Given the description of an element on the screen output the (x, y) to click on. 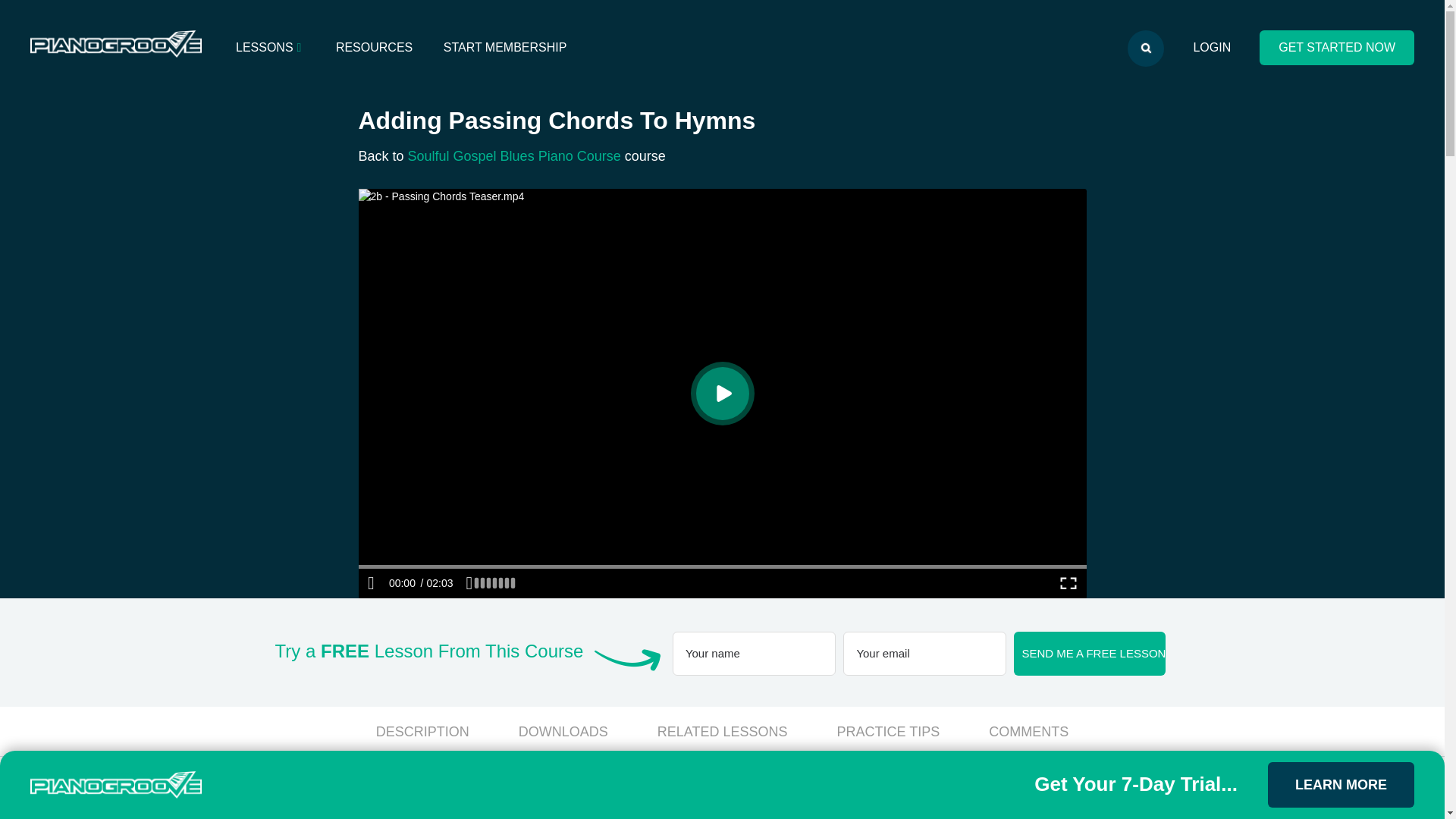
PRACTICE TIPS (888, 730)
Soulful Gospel Blues Piano Course (514, 155)
GET STARTED NOW (1336, 47)
COMMENTS (1028, 730)
DOWNLOADS (563, 730)
Send Me a Free Lesson (1089, 653)
START MEMBERSHIP (504, 47)
RESOURCES (373, 47)
DESCRIPTION (421, 730)
PIANOGROOVE.COM (116, 45)
LOGIN (1211, 47)
LESSONS (270, 47)
